Given the description of an element on the screen output the (x, y) to click on. 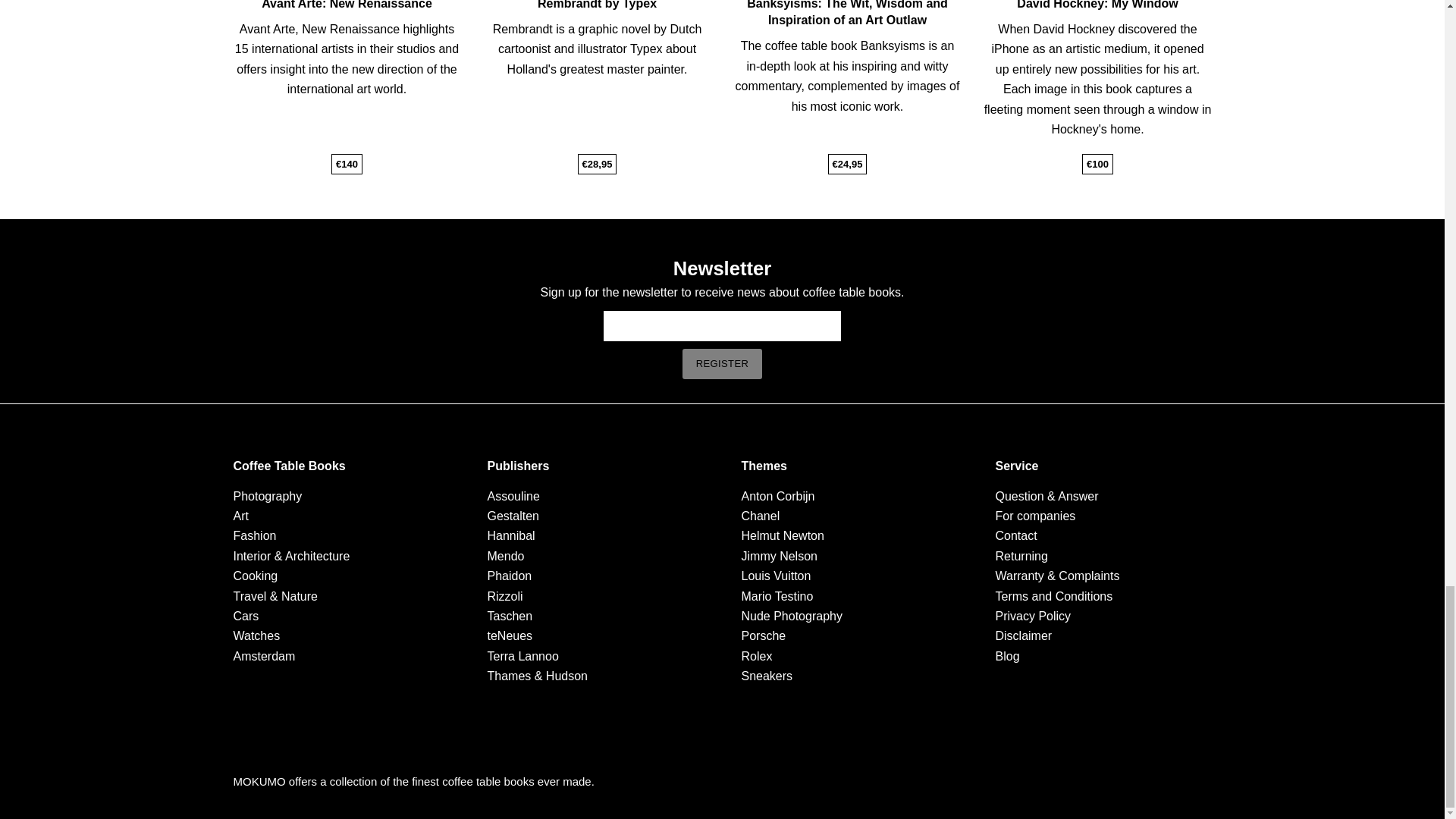
Banksyisms (884, 4)
REGISTER (722, 363)
